Given the description of an element on the screen output the (x, y) to click on. 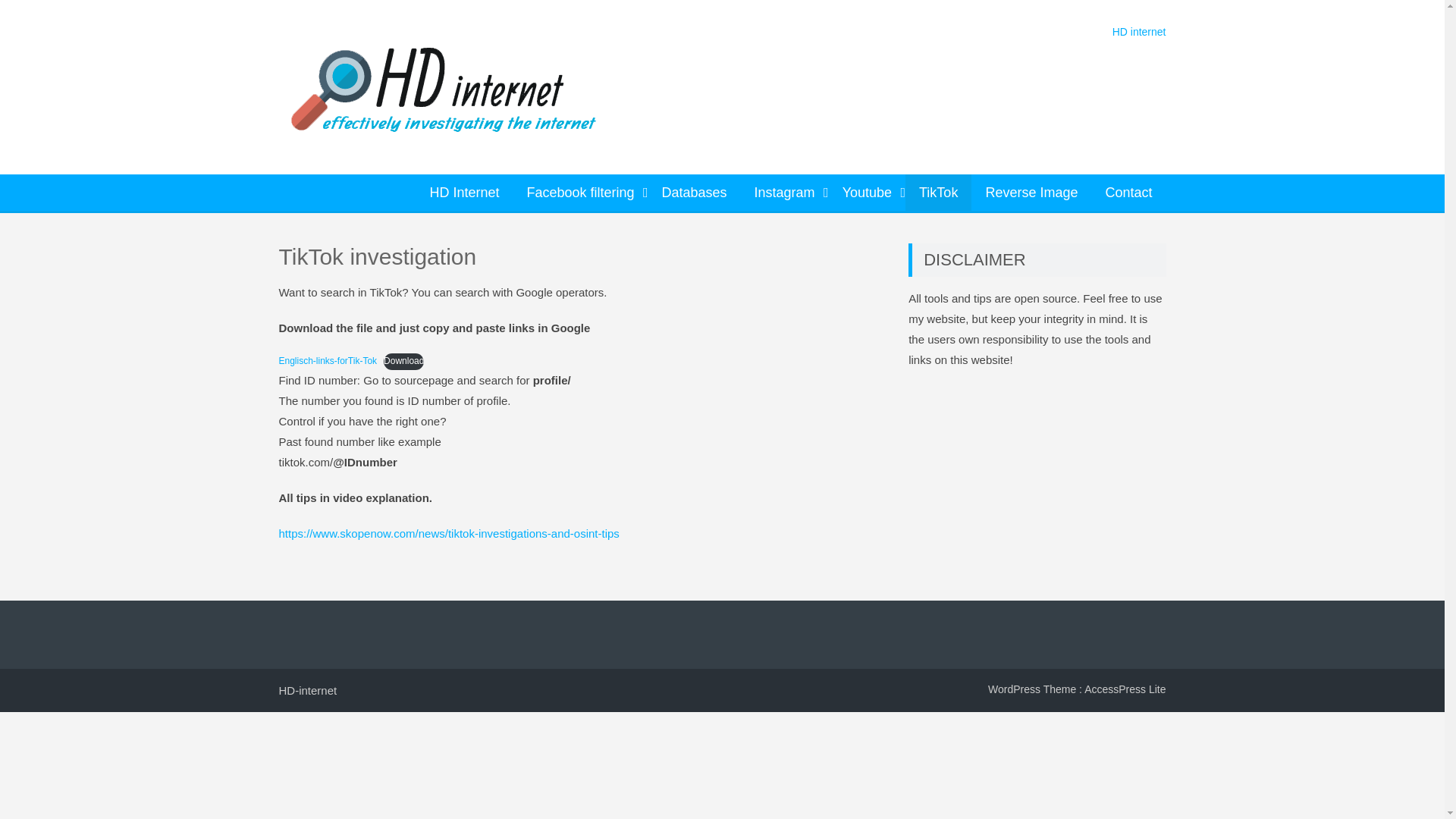
Facebook filtering (579, 192)
Youtube (866, 192)
AccessPress Lite (1125, 689)
Databases (694, 192)
Instagram (784, 192)
Reverse Image (1030, 192)
Download (403, 361)
Englisch-links-forTik-Tok (328, 360)
TikTok (938, 192)
AccessPress Lite (1125, 689)
